Given the description of an element on the screen output the (x, y) to click on. 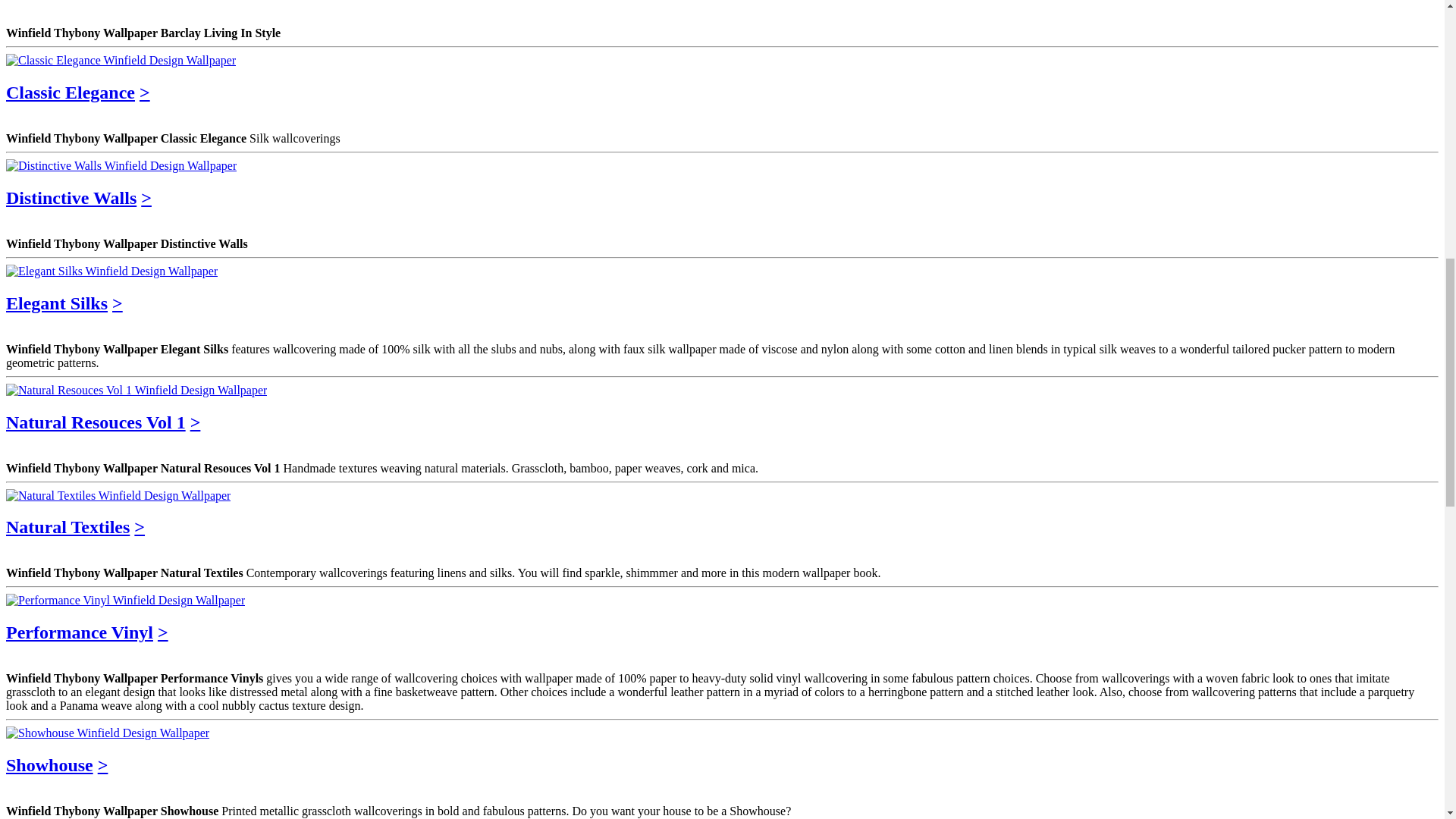
Elegant Silks Winfield Design Wallpaper (110, 271)
Classic Elegance (70, 92)
Classic Elegance Winfield Design Wallpaper (120, 60)
Distinctive Walls Winfield Design Wallpaper (120, 165)
Showhouse Winfield Design Wallpaper (107, 733)
Natural Textiles Winfield Design Wallpaper (117, 495)
Natural Resouces Vol 1 Winfield Design Wallpaper (135, 390)
Performance Vinyl Winfield Design Wallpaper (124, 600)
